Given the description of an element on the screen output the (x, y) to click on. 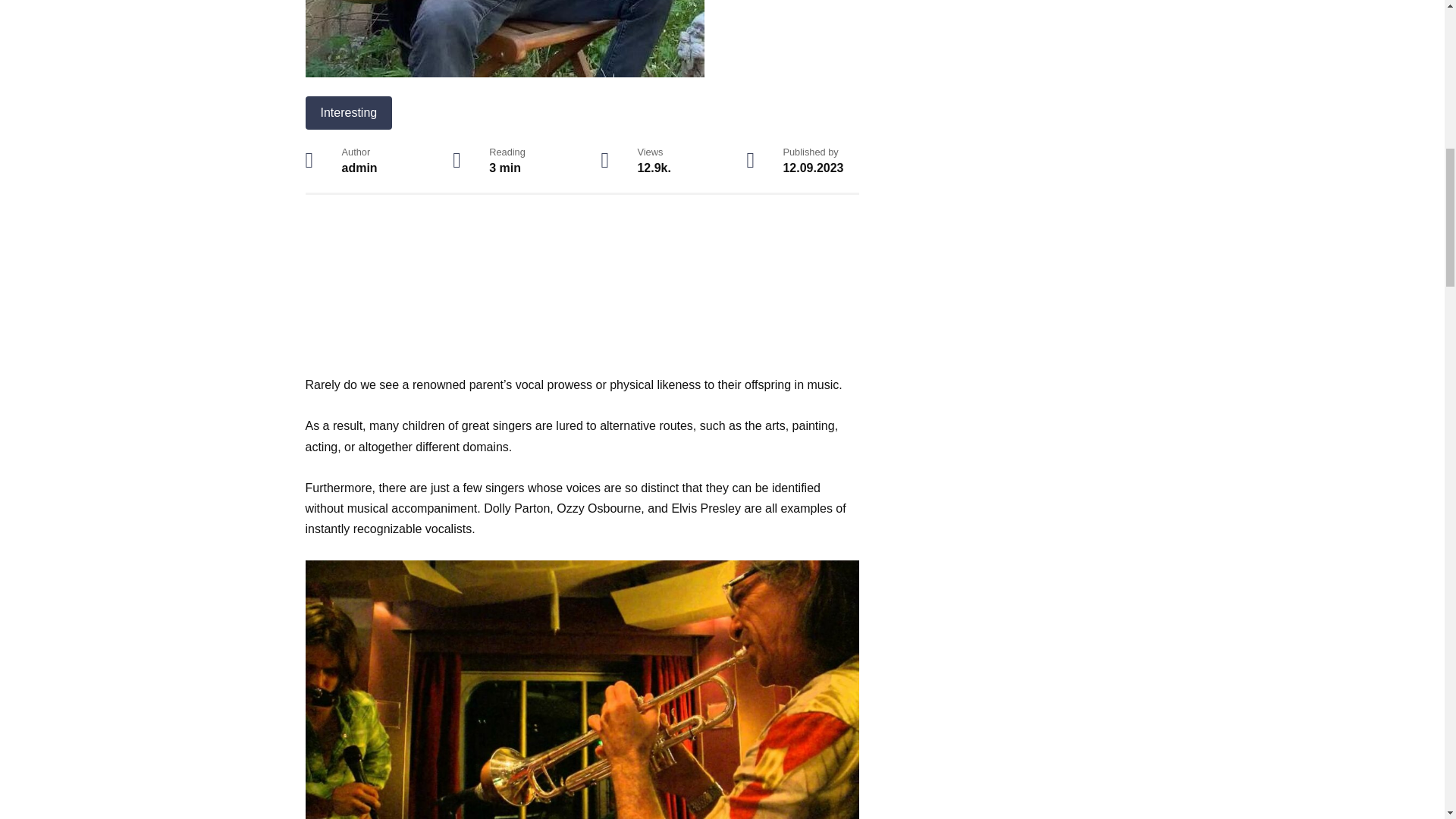
Interesting (347, 112)
